Given the description of an element on the screen output the (x, y) to click on. 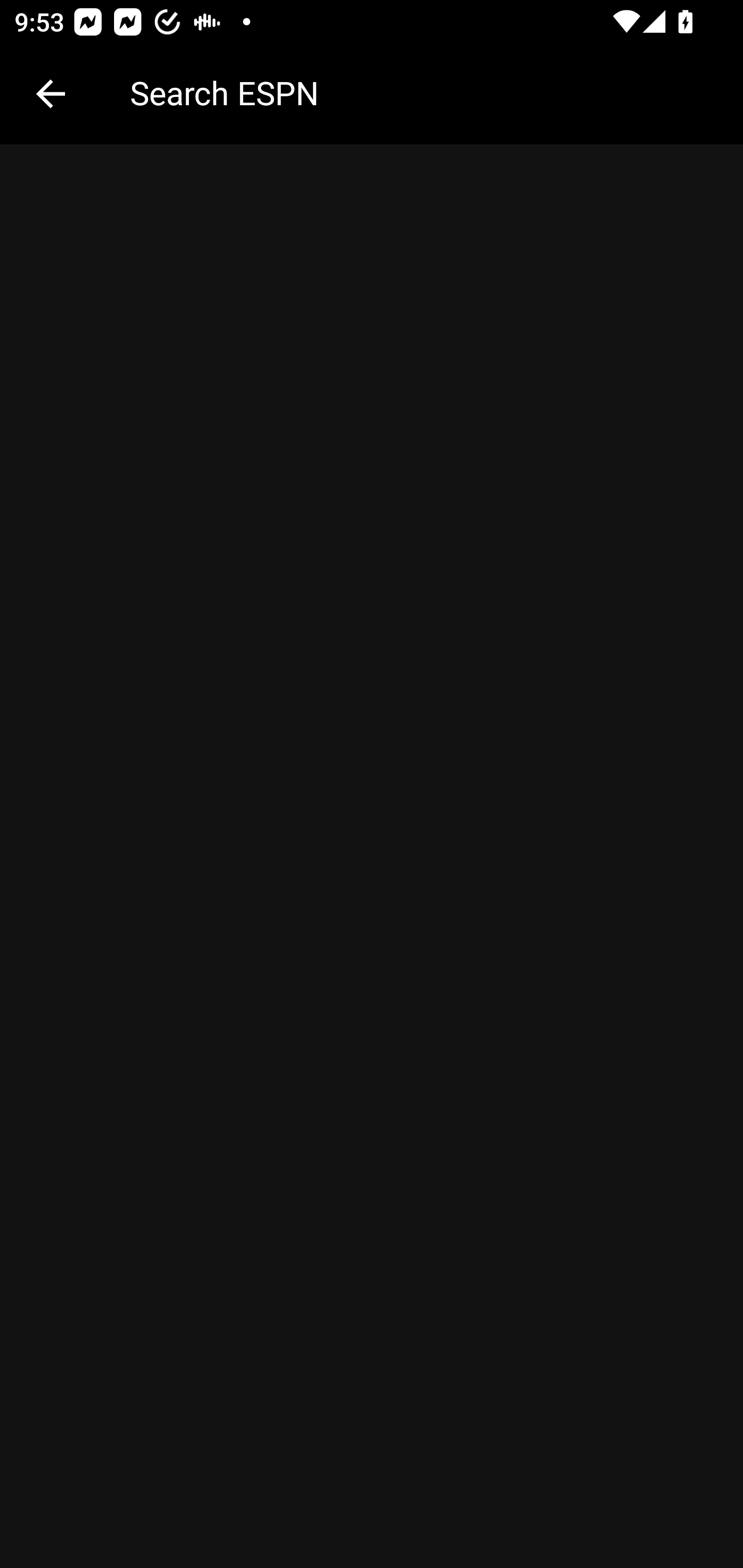
Collapse (50, 93)
Search ESPN (421, 92)
